Given the description of an element on the screen output the (x, y) to click on. 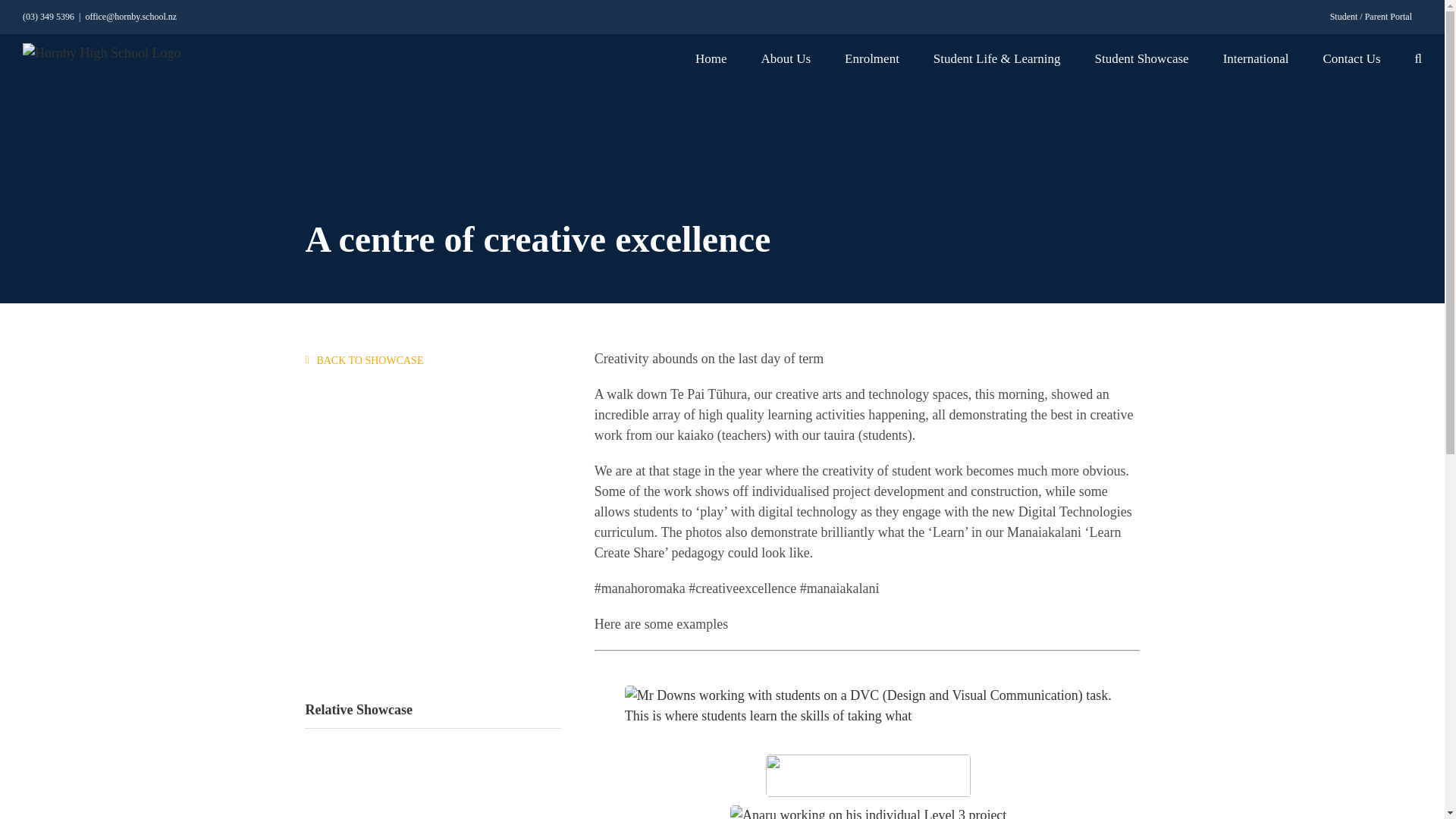
About Us (785, 58)
wordpress-postl7gKwa (432, 526)
Student Showcase (1141, 58)
Home (710, 58)
Contact Us (1351, 58)
International (1255, 58)
Search (1418, 58)
Enrolment (871, 58)
